Given the description of an element on the screen output the (x, y) to click on. 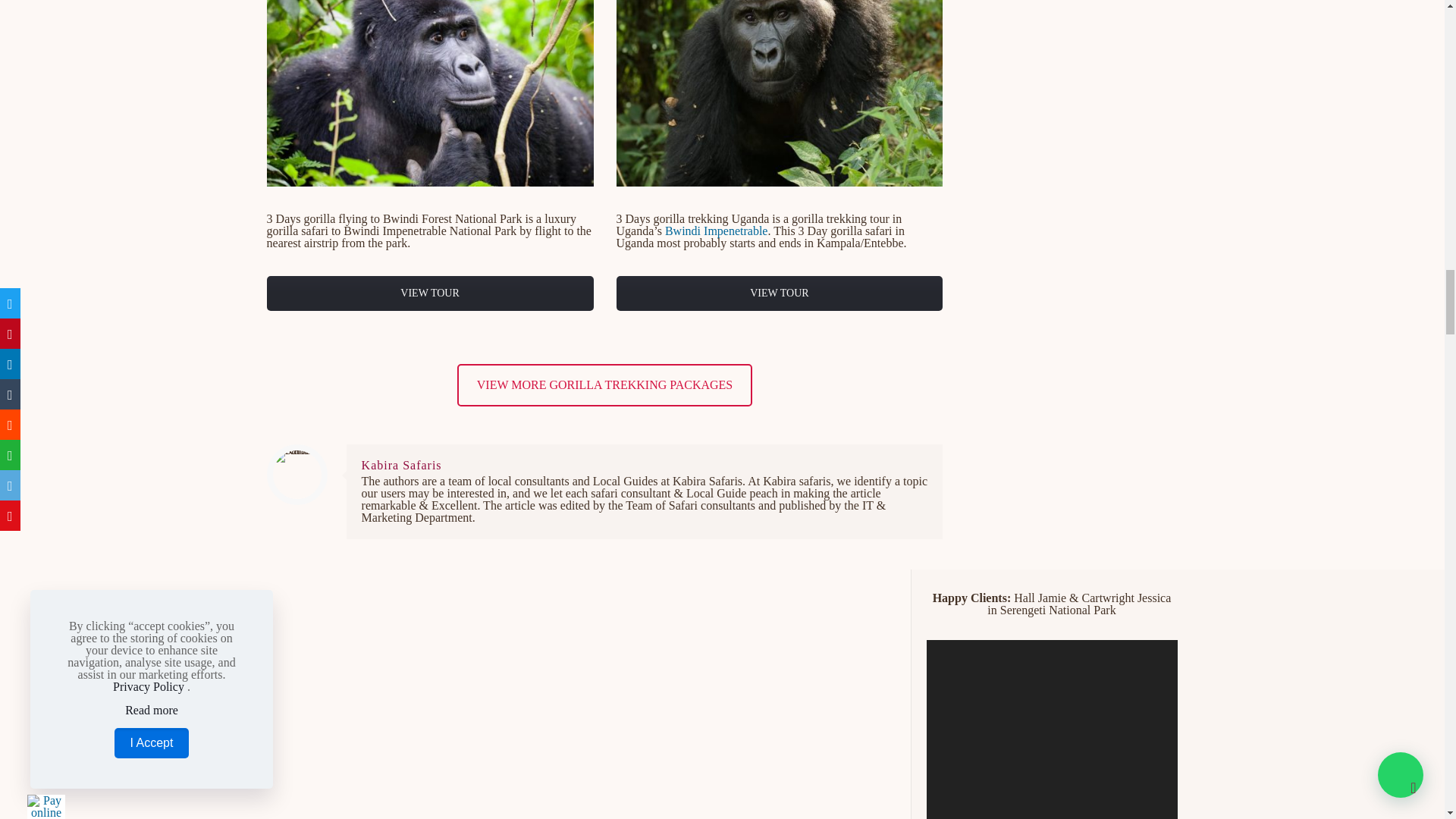
Gorilla trekking (430, 93)
VIEW TOUR (430, 293)
Uganda Gorilla trekking Safaris (778, 93)
